Given the description of an element on the screen output the (x, y) to click on. 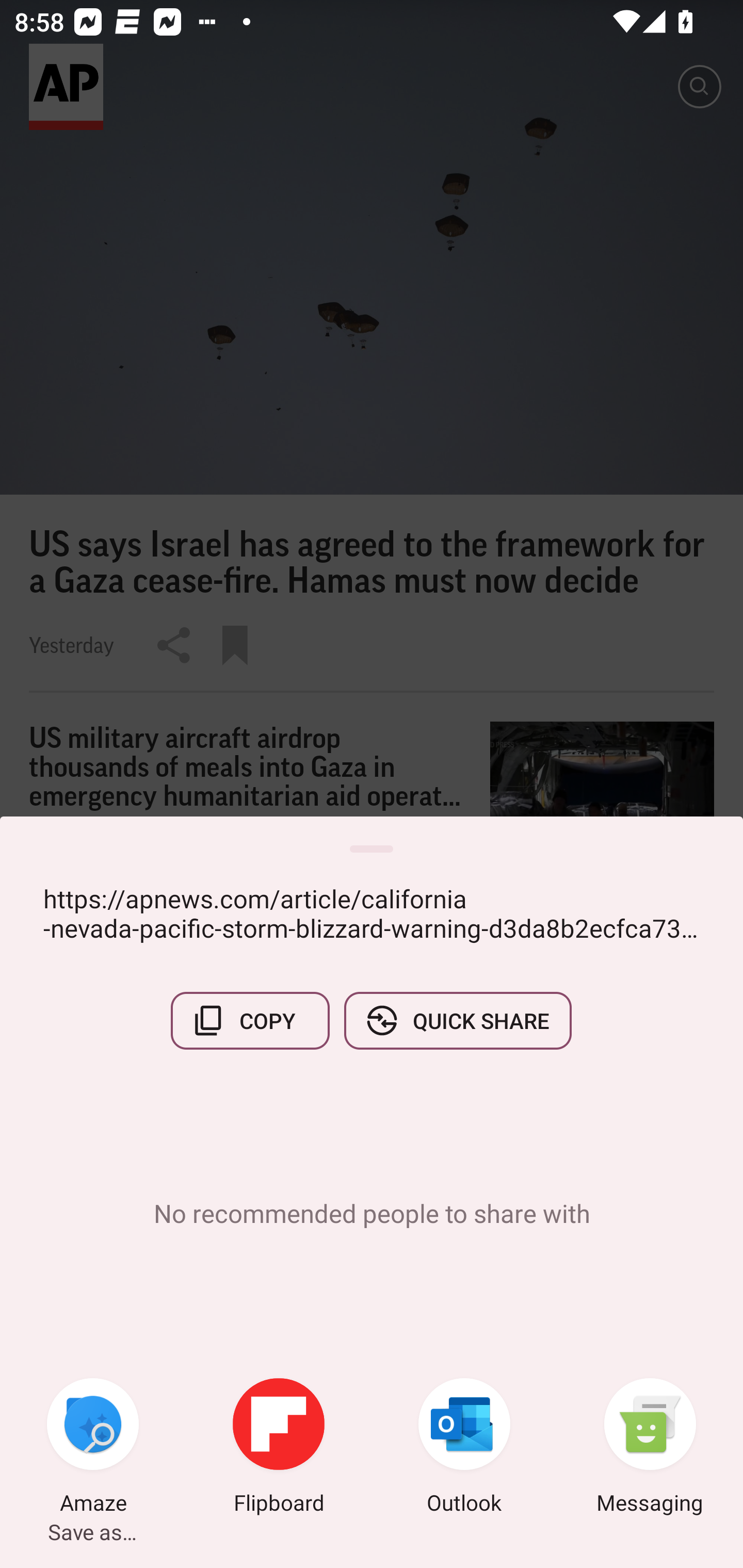
COPY (249, 1020)
QUICK SHARE (457, 1020)
Amaze Save as… (92, 1448)
Flipboard (278, 1448)
Outlook (464, 1448)
Messaging (650, 1448)
